Given the description of an element on the screen output the (x, y) to click on. 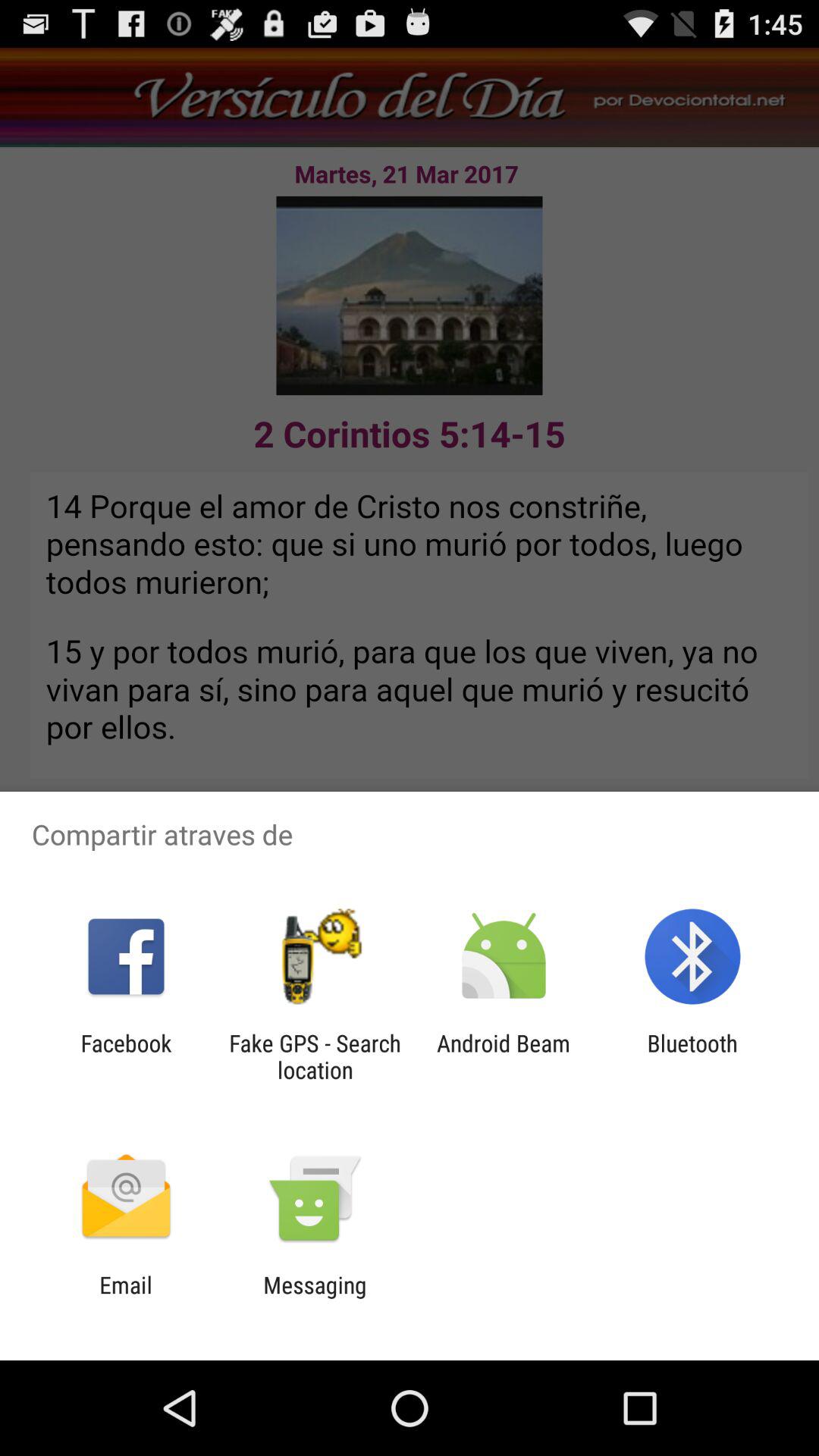
turn off icon to the left of the bluetooth (503, 1056)
